Given the description of an element on the screen output the (x, y) to click on. 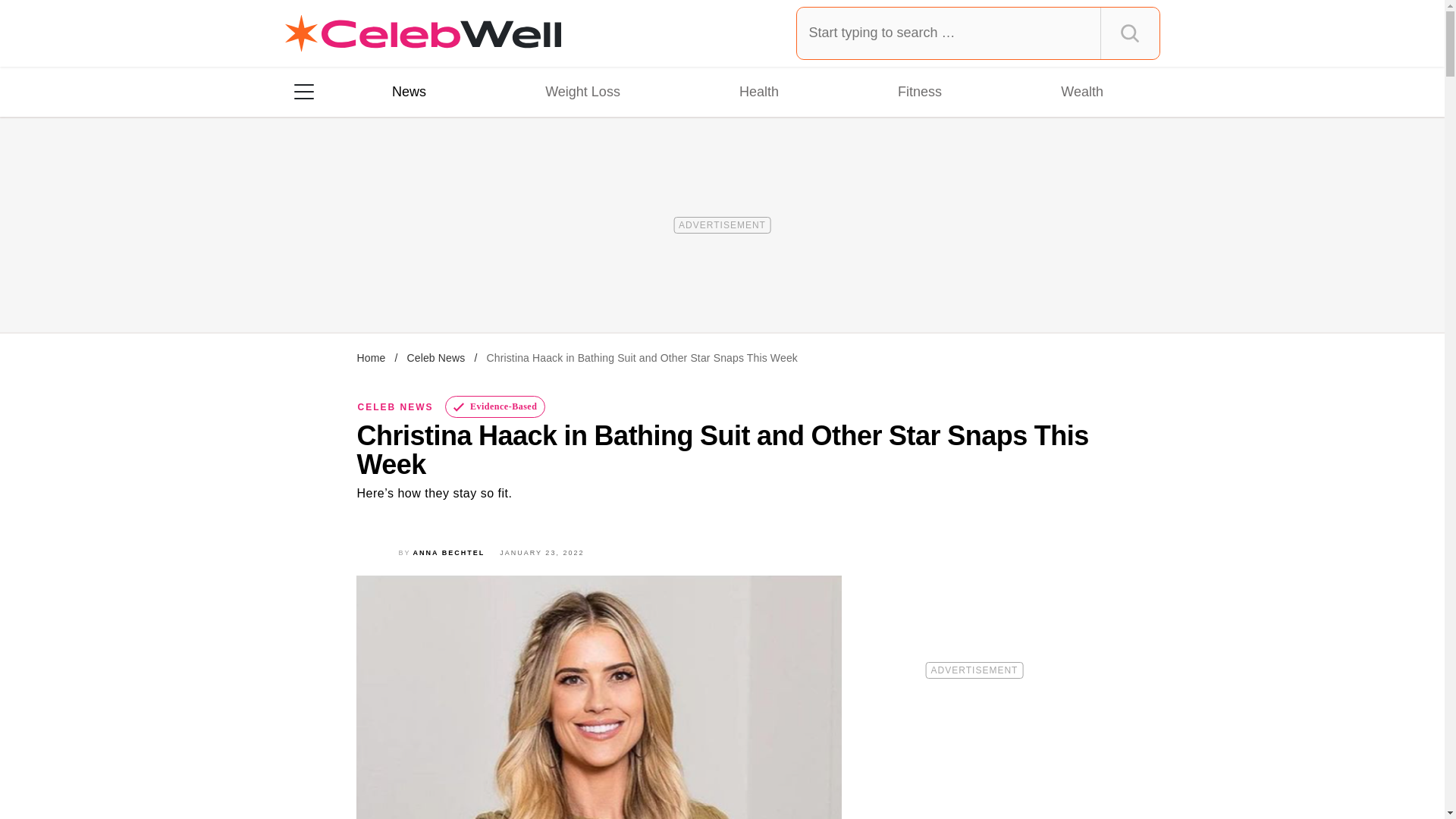
Health (758, 91)
ANNA BECHTEL (448, 552)
Celebwell Homepage (422, 33)
Weight Loss (582, 91)
Evidence-Based (495, 406)
Wealth (1081, 91)
News (408, 91)
Home (370, 357)
Fitness (919, 91)
CELEB NEWS (395, 407)
Celeb News (435, 357)
Type and press Enter to search (978, 32)
Posts by Anna Bechtel (448, 552)
